Given the description of an element on the screen output the (x, y) to click on. 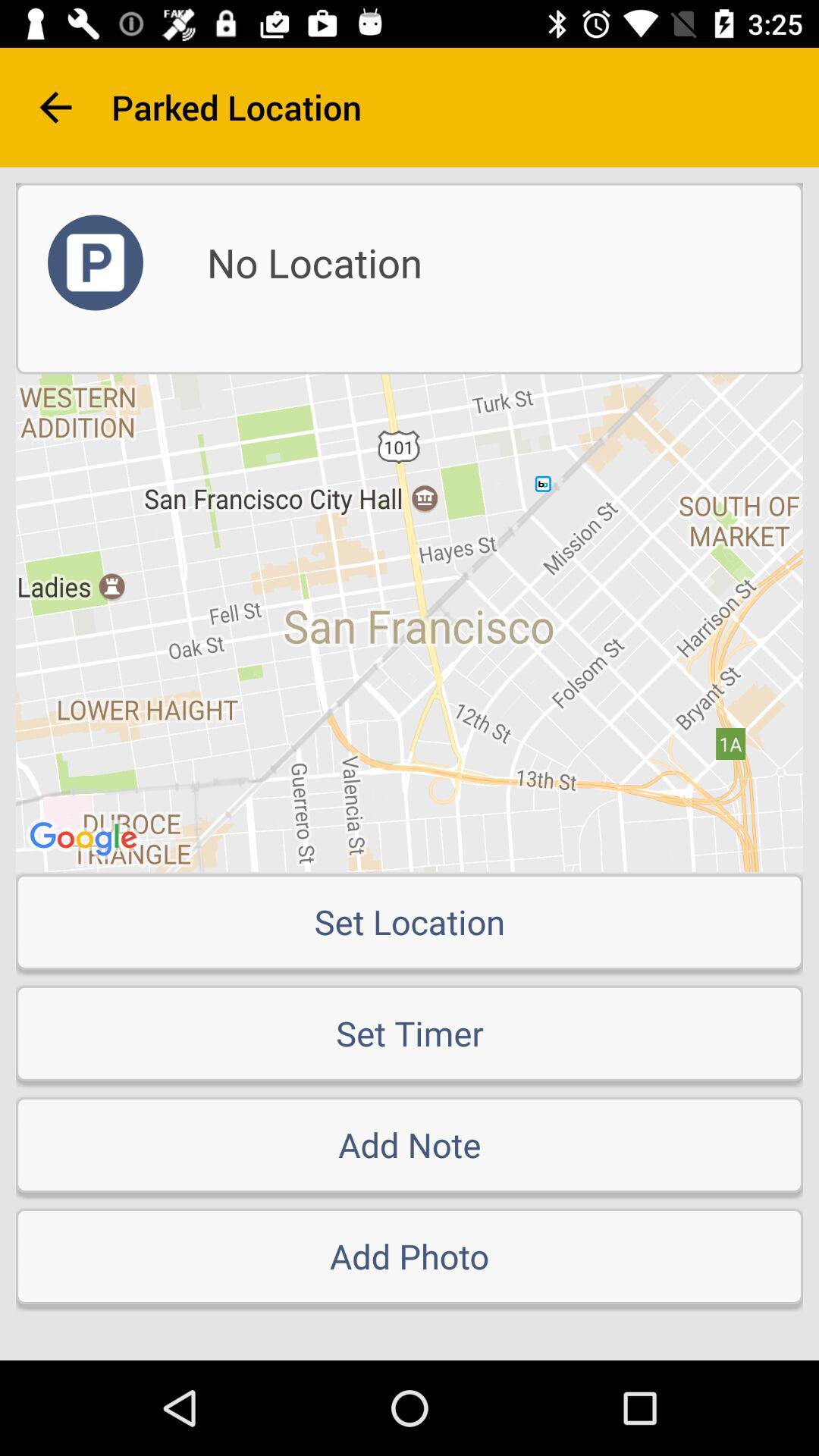
turn off add note item (409, 1144)
